Given the description of an element on the screen output the (x, y) to click on. 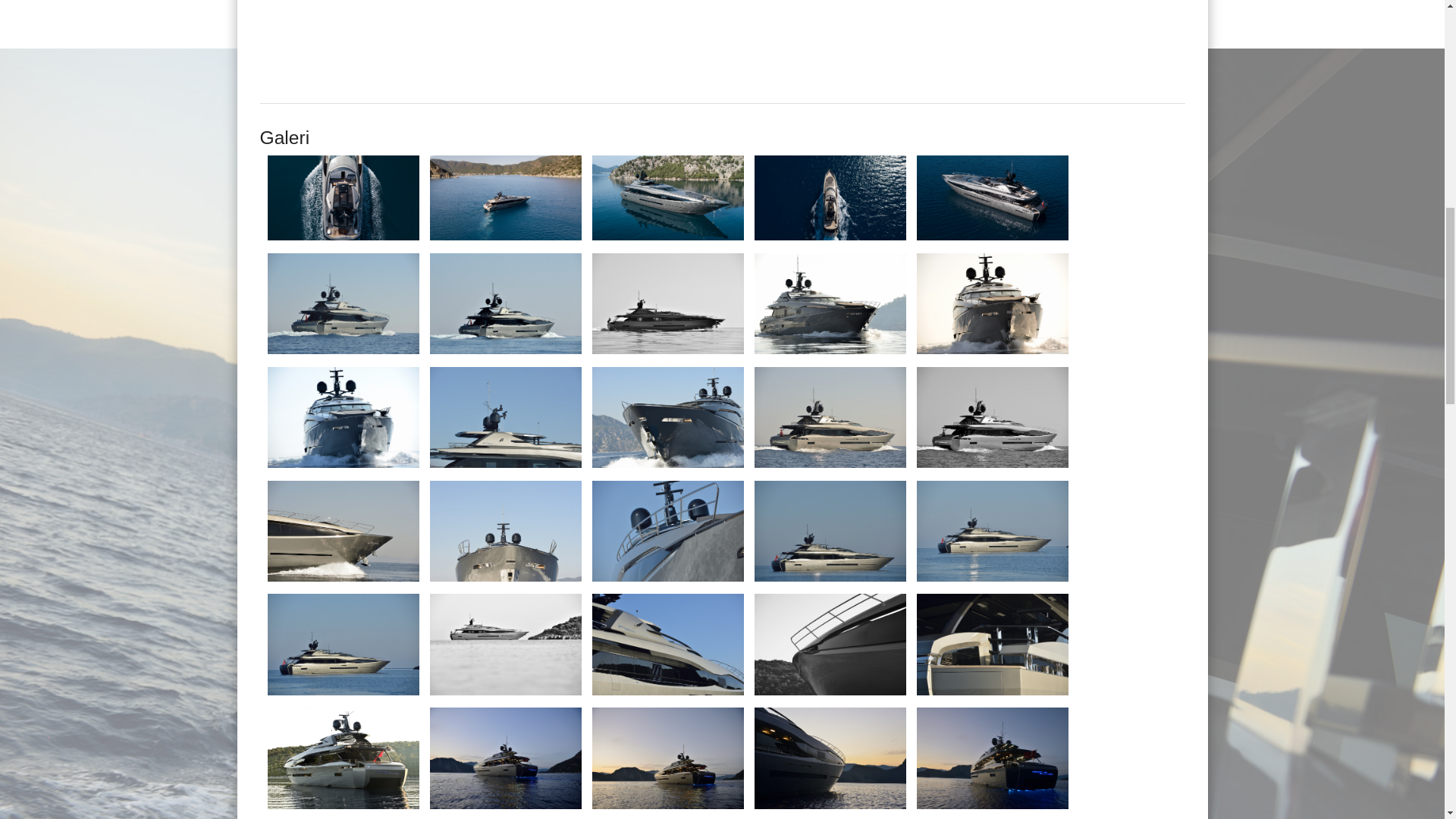
fx 38 exterior 3 (668, 197)
fx 38 exterior 7 (504, 303)
fx 38 exterior 5 (992, 197)
fx 38 exterior 8 (668, 303)
fx 38 exterior 4 (829, 197)
fx 38 exterior 6 (342, 303)
fx 38 exterior 1 (342, 197)
fx 38 exterior 2 (504, 197)
